Given the description of an element on the screen output the (x, y) to click on. 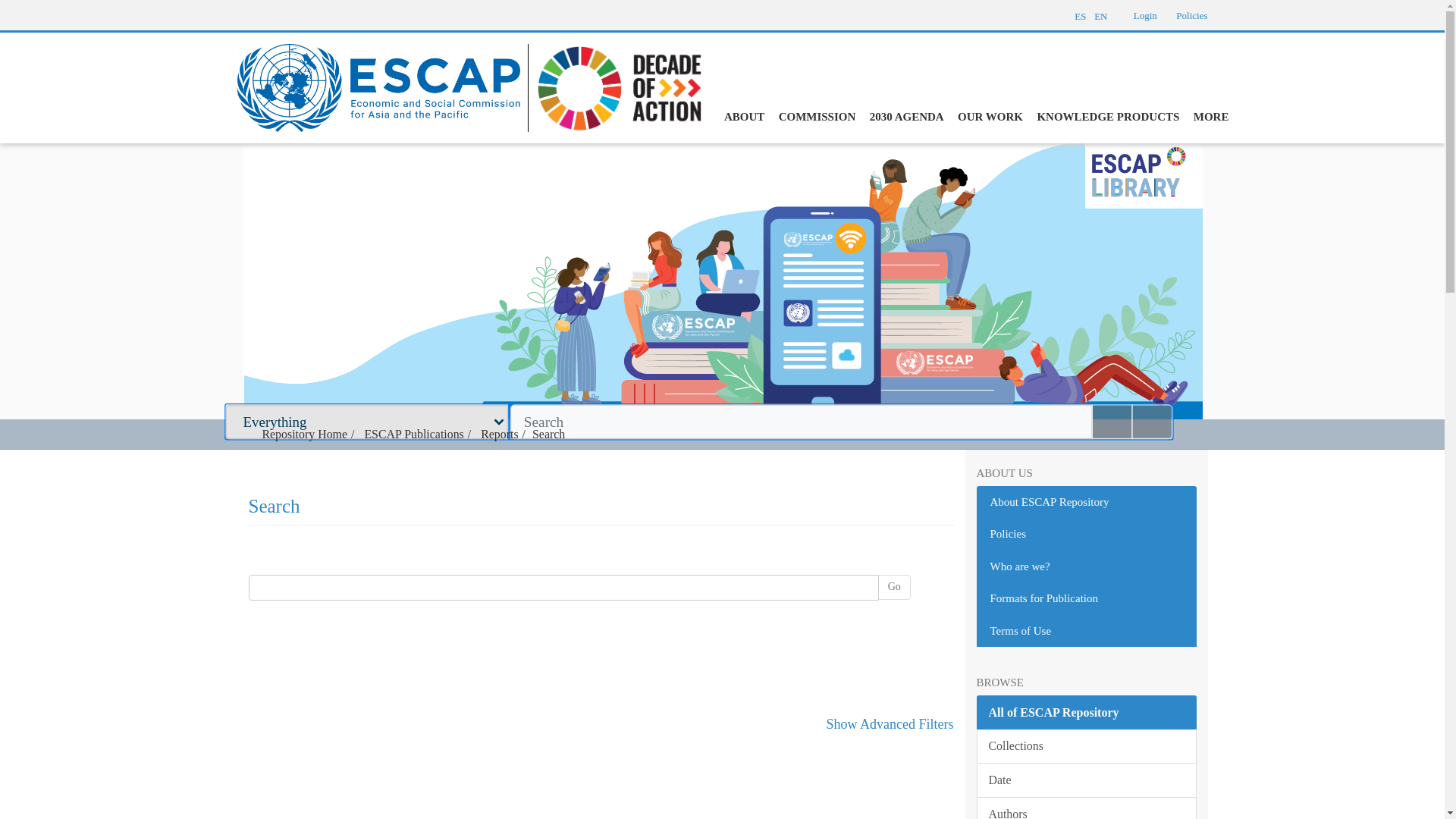
Policies (1191, 15)
Decade of action (614, 86)
Login (1145, 15)
EN (1107, 14)
ES (1080, 14)
